Given the description of an element on the screen output the (x, y) to click on. 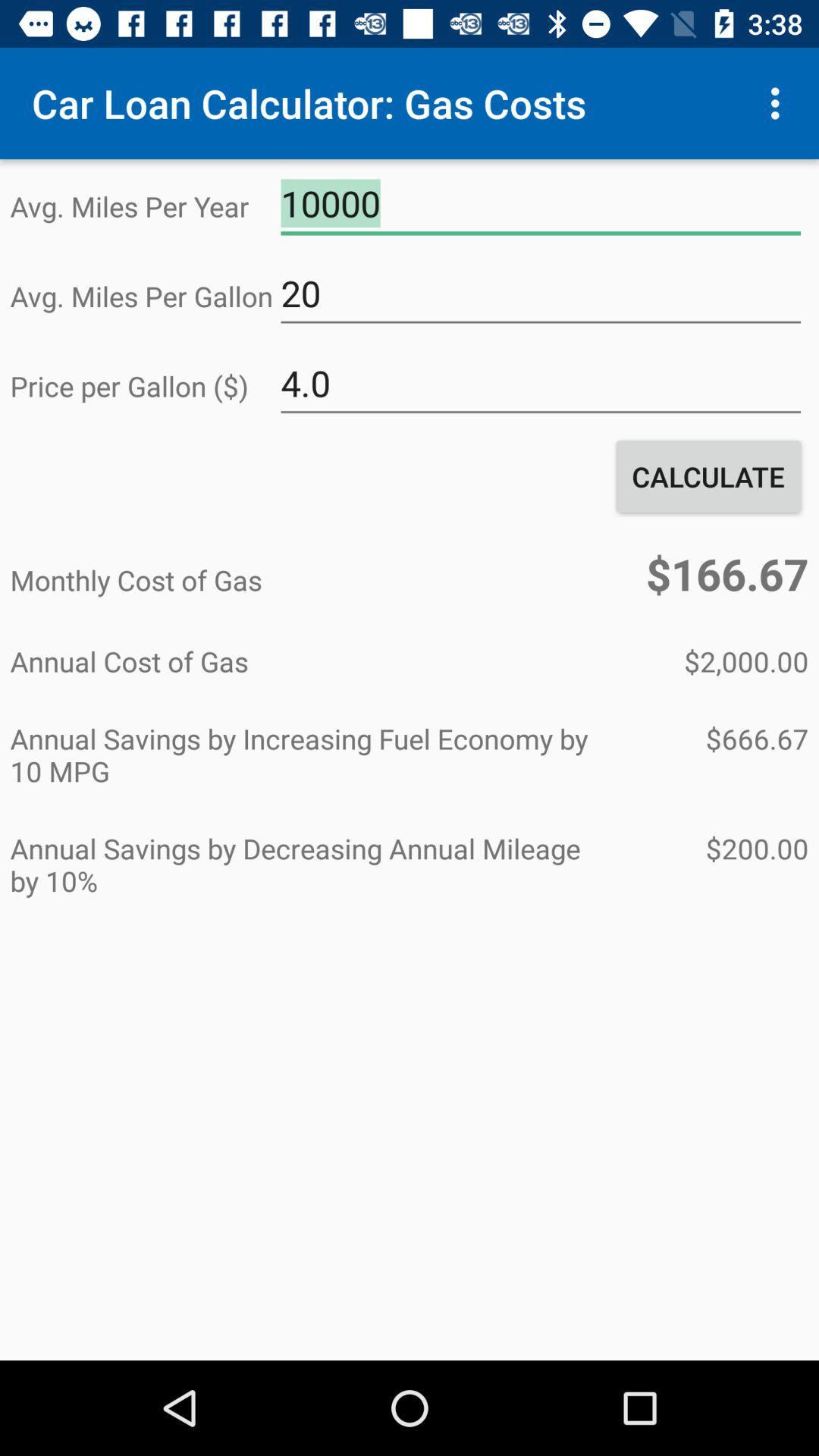
open item to the right of the avg miles per item (540, 293)
